Given the description of an element on the screen output the (x, y) to click on. 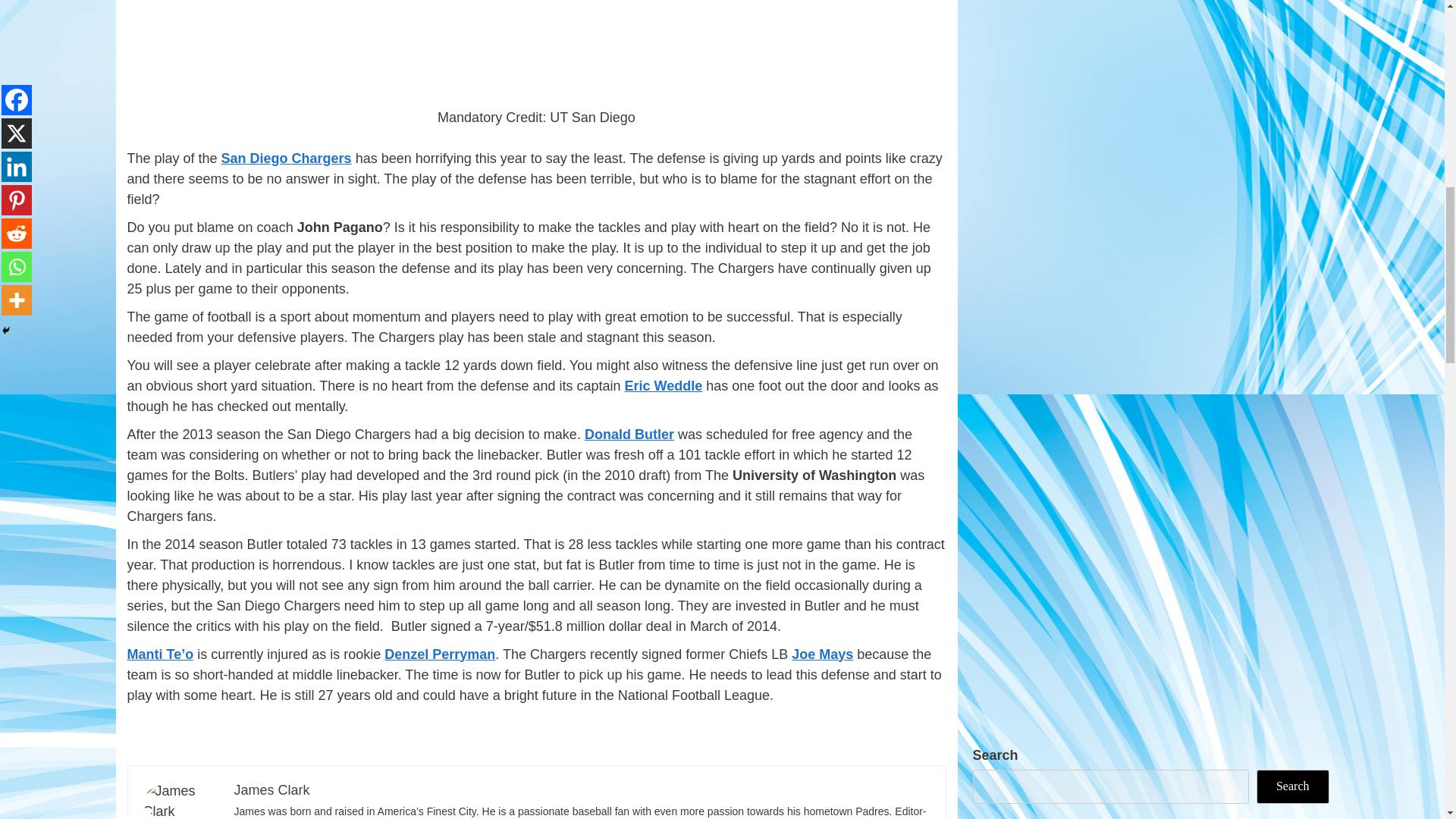
Joe Mays (822, 654)
Denzel Perryman (439, 654)
Eric Weddle (663, 385)
James Clark (270, 789)
San Diego Chargers (286, 158)
Donald Butler (629, 434)
